Given the description of an element on the screen output the (x, y) to click on. 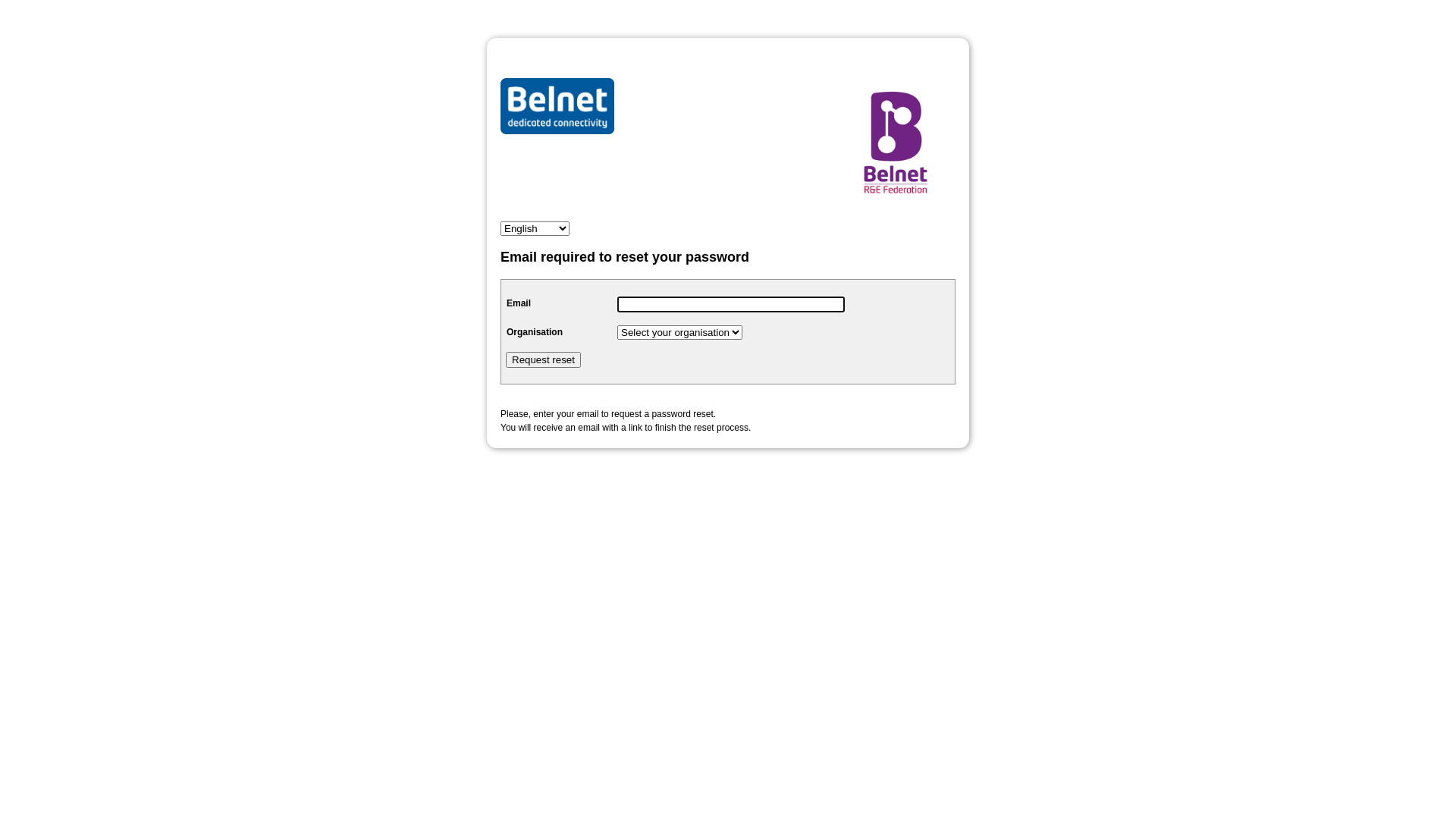
Request reset Element type: text (542, 359)
